Given the description of an element on the screen output the (x, y) to click on. 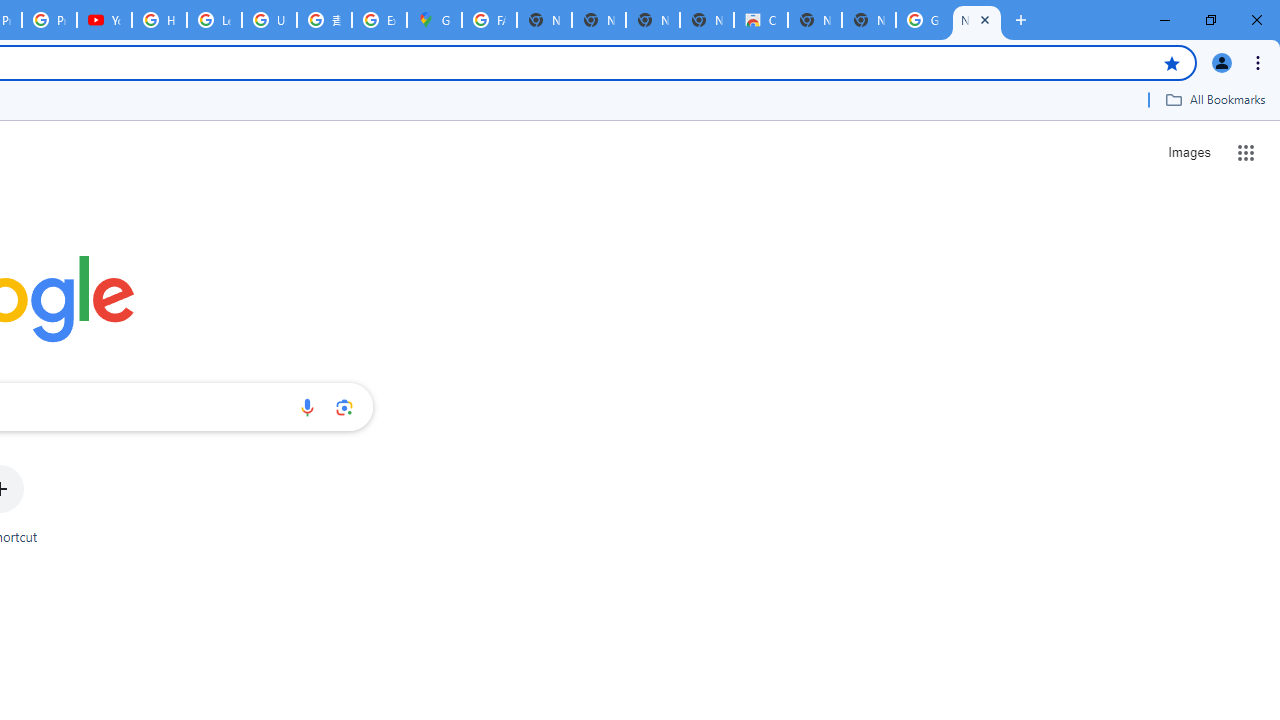
New Tab (868, 20)
Chrome Web Store (760, 20)
YouTube (103, 20)
